Given the description of an element on the screen output the (x, y) to click on. 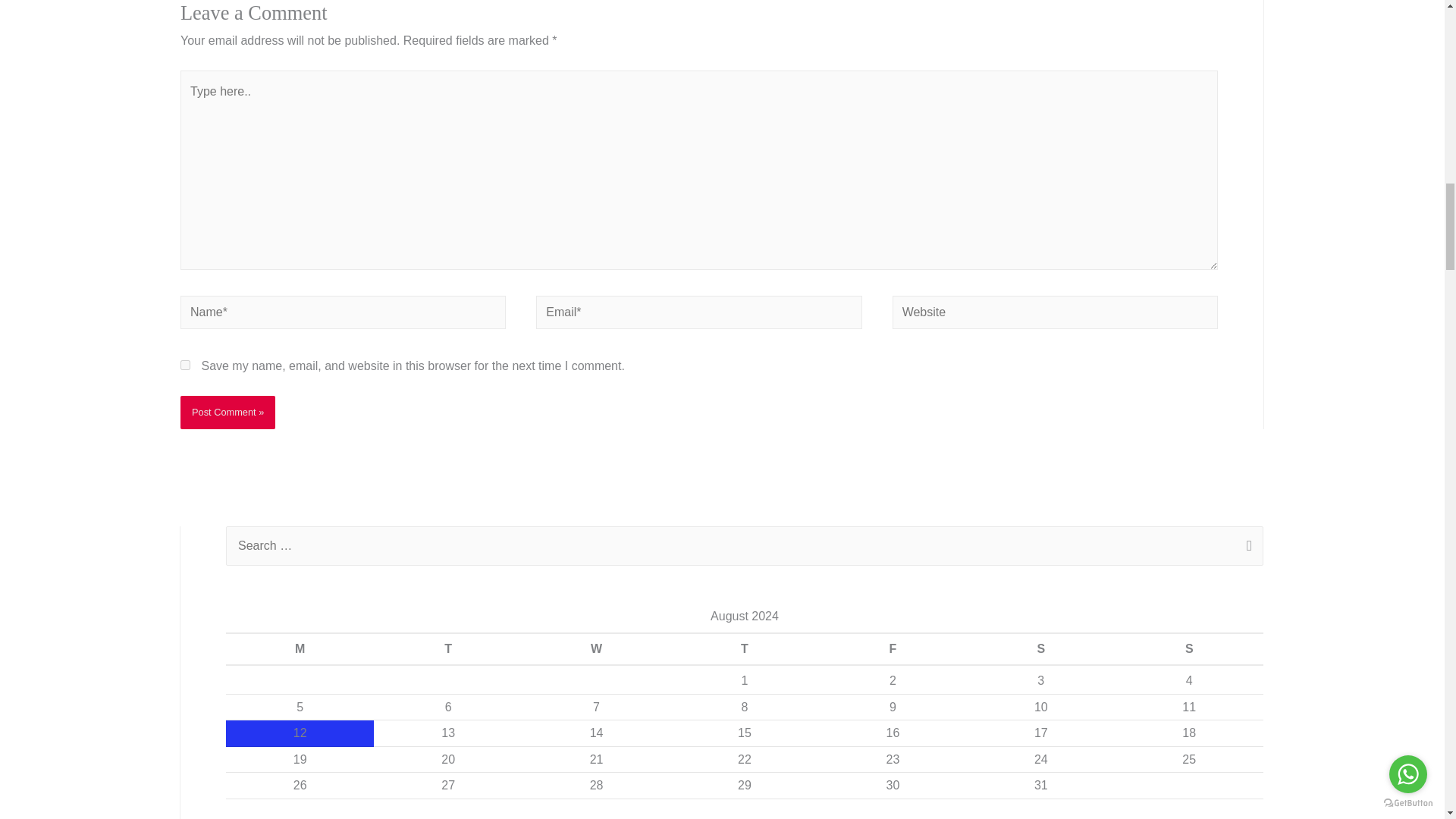
Wednesday (595, 648)
Tuesday (447, 648)
yes (185, 365)
Friday (892, 648)
Monday (299, 648)
Thursday (743, 648)
Saturday (1040, 648)
Sunday (1189, 648)
